Given the description of an element on the screen output the (x, y) to click on. 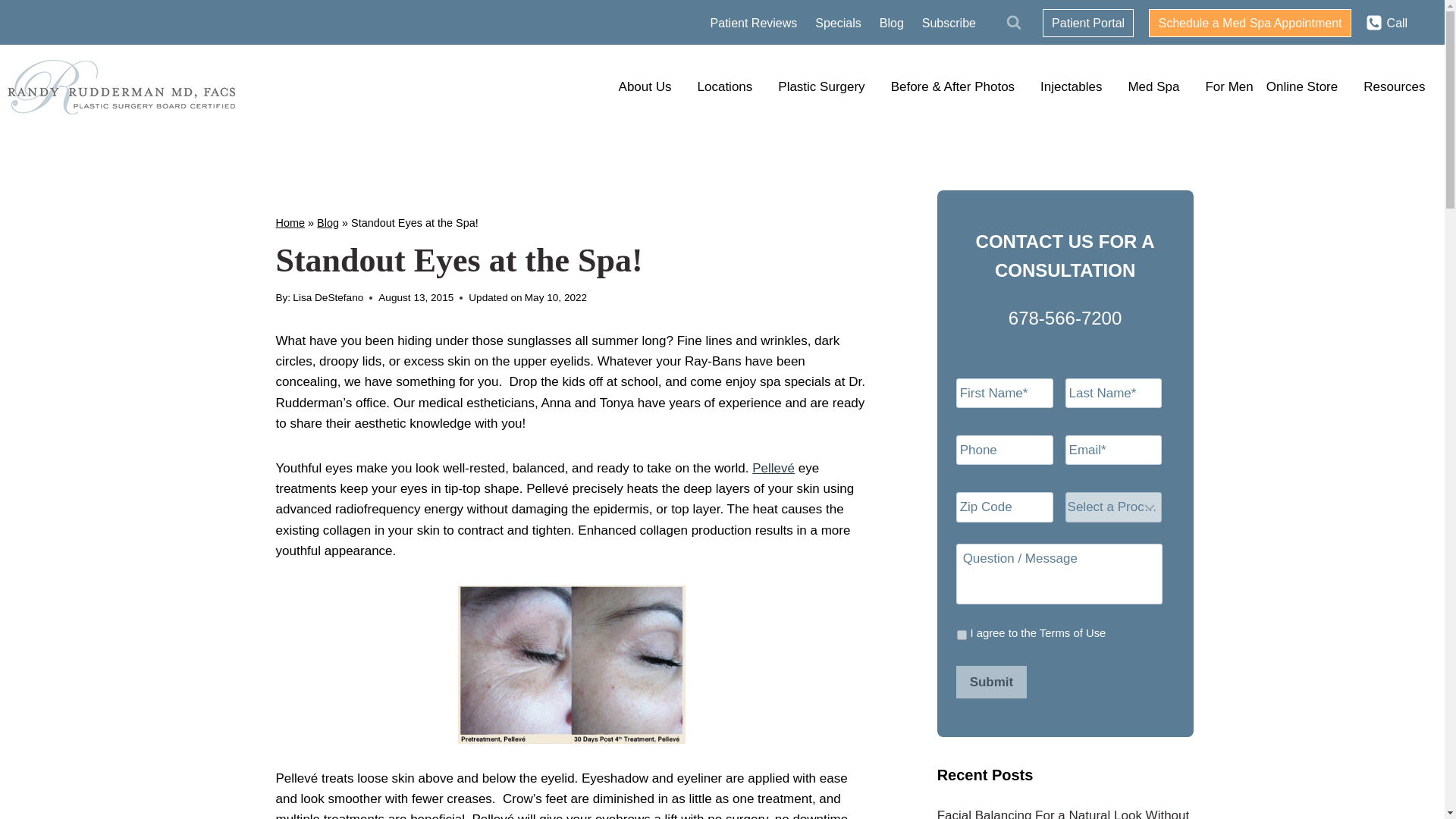
Patient Reviews (753, 22)
Blog (891, 22)
Patient Portal (1088, 22)
Schedule a Med Spa Appointment (1249, 22)
Subscribe (948, 22)
Plastic Surgery (827, 86)
Specials (837, 22)
Call (1385, 22)
Locations (730, 86)
Submit (991, 681)
